Given the description of an element on the screen output the (x, y) to click on. 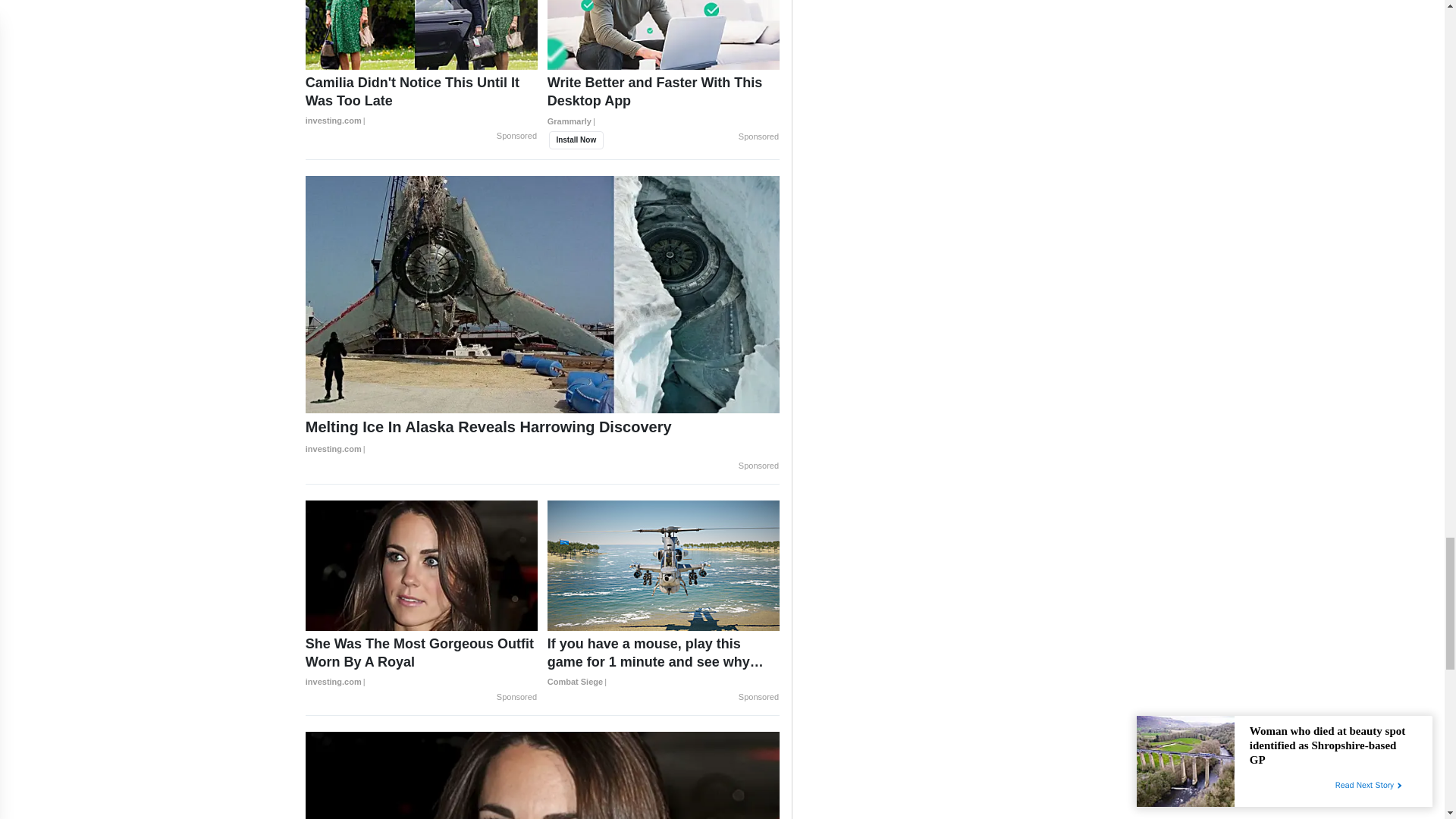
Camilia Didn't Notice This Until It Was Too Late (421, 101)
Camilia Didn't Notice This Until It Was Too Late (421, 34)
